Given the description of an element on the screen output the (x, y) to click on. 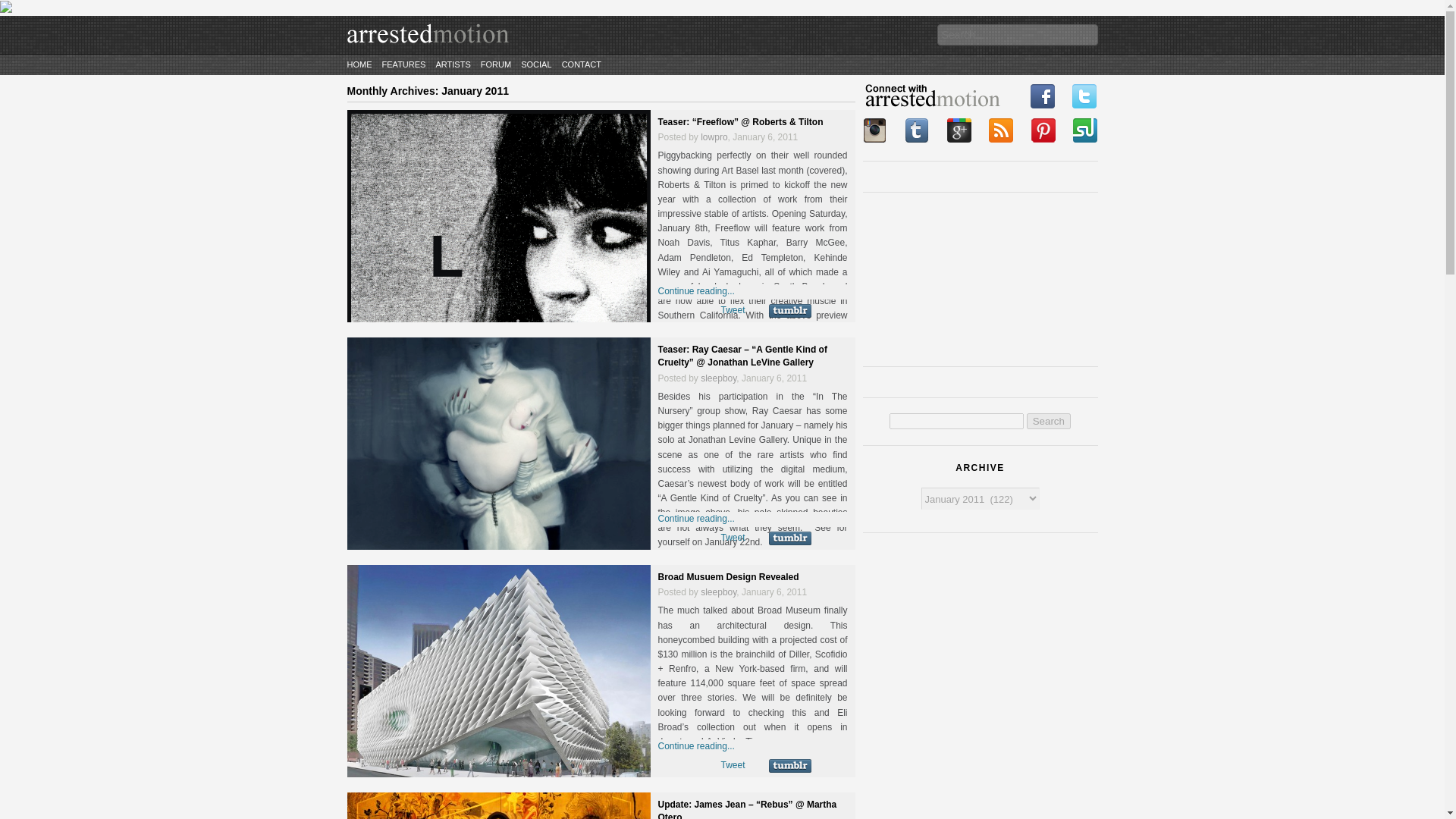
HOME (359, 63)
Broad Musuem Design Revealed (728, 576)
sleepboy (718, 378)
Broad Musuem Design Revealed (728, 576)
Search (1048, 421)
CONTACT (581, 63)
lowpro (713, 136)
SOCIAL (536, 63)
sleepboy (718, 592)
Continue reading... (696, 290)
